Given the description of an element on the screen output the (x, y) to click on. 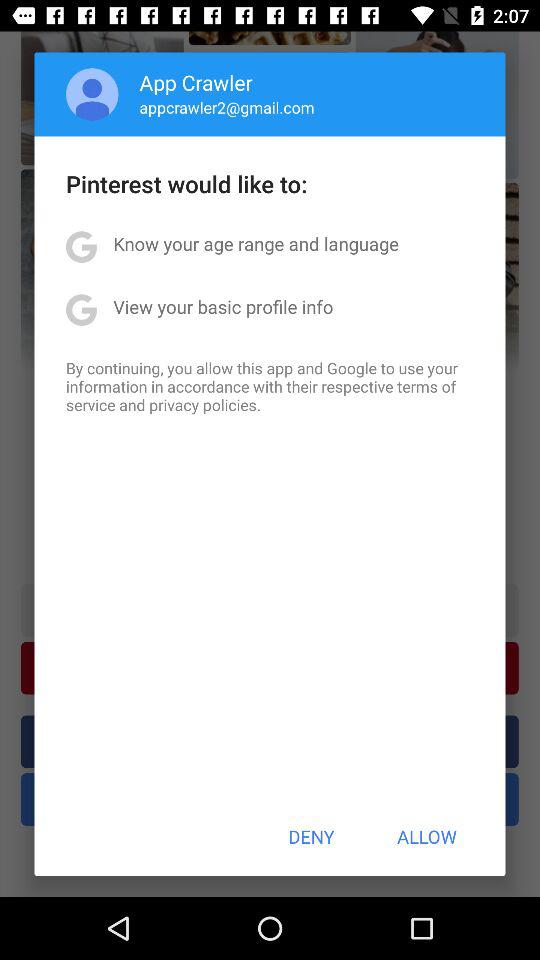
select the view your basic item (223, 306)
